Given the description of an element on the screen output the (x, y) to click on. 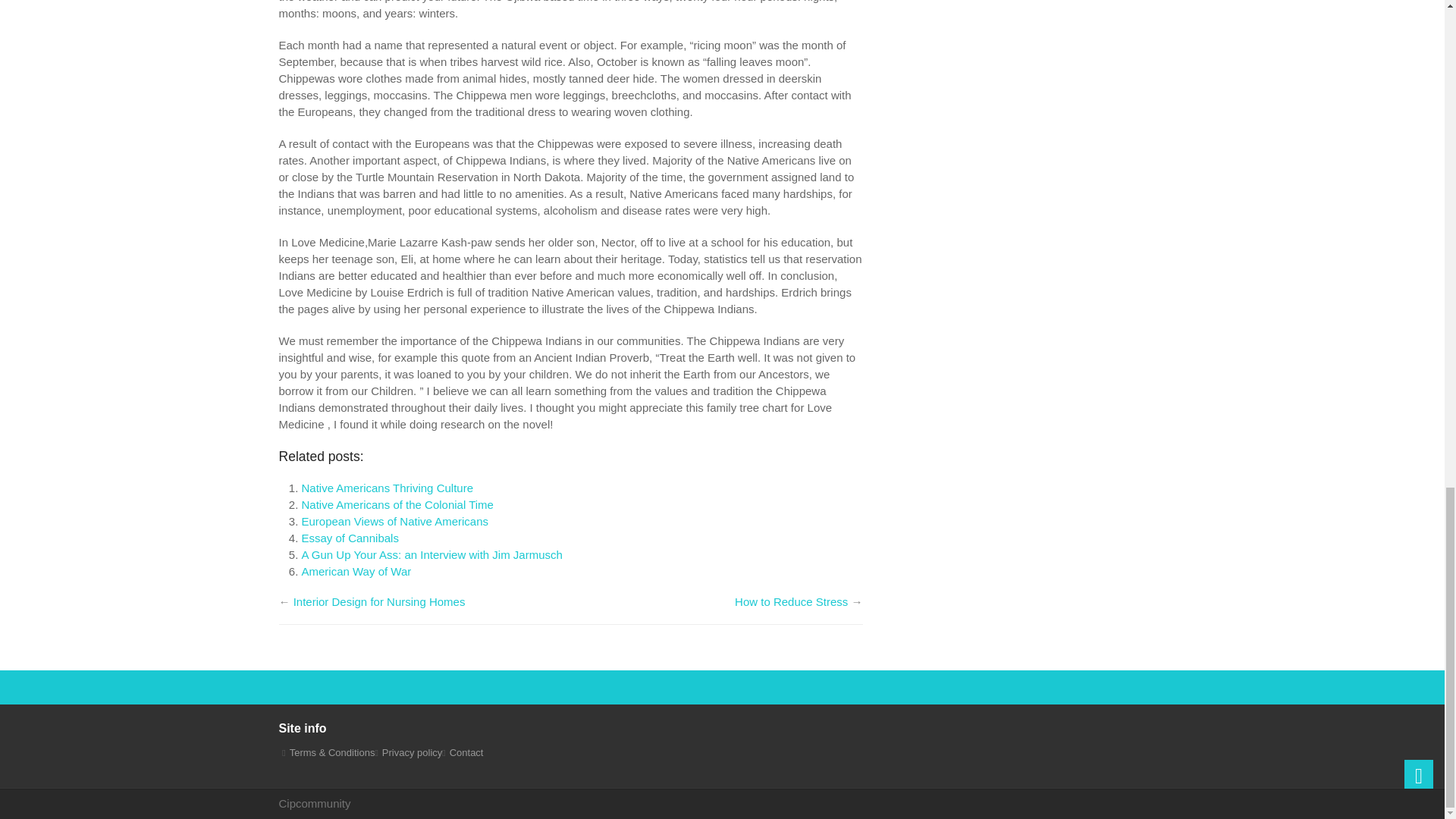
Native Americans Thriving Culture (387, 487)
American Way of War (356, 571)
European Views of Native Americans (395, 521)
Native Americans Thriving Culture (387, 487)
Native Americans of the Colonial Time (397, 504)
Contact (466, 752)
Essay of Cannibals (349, 537)
American Way of War (356, 571)
Essay of Cannibals (349, 537)
How to Reduce Stress (791, 601)
A Gun Up Your Ass: an Interview with Jim Jarmusch (431, 554)
Native Americans of the Colonial Time (397, 504)
A Gun Up Your Ass: an Interview with Jim Jarmusch (431, 554)
Interior Design for Nursing Homes (379, 601)
European Views of Native Americans (395, 521)
